Given the description of an element on the screen output the (x, y) to click on. 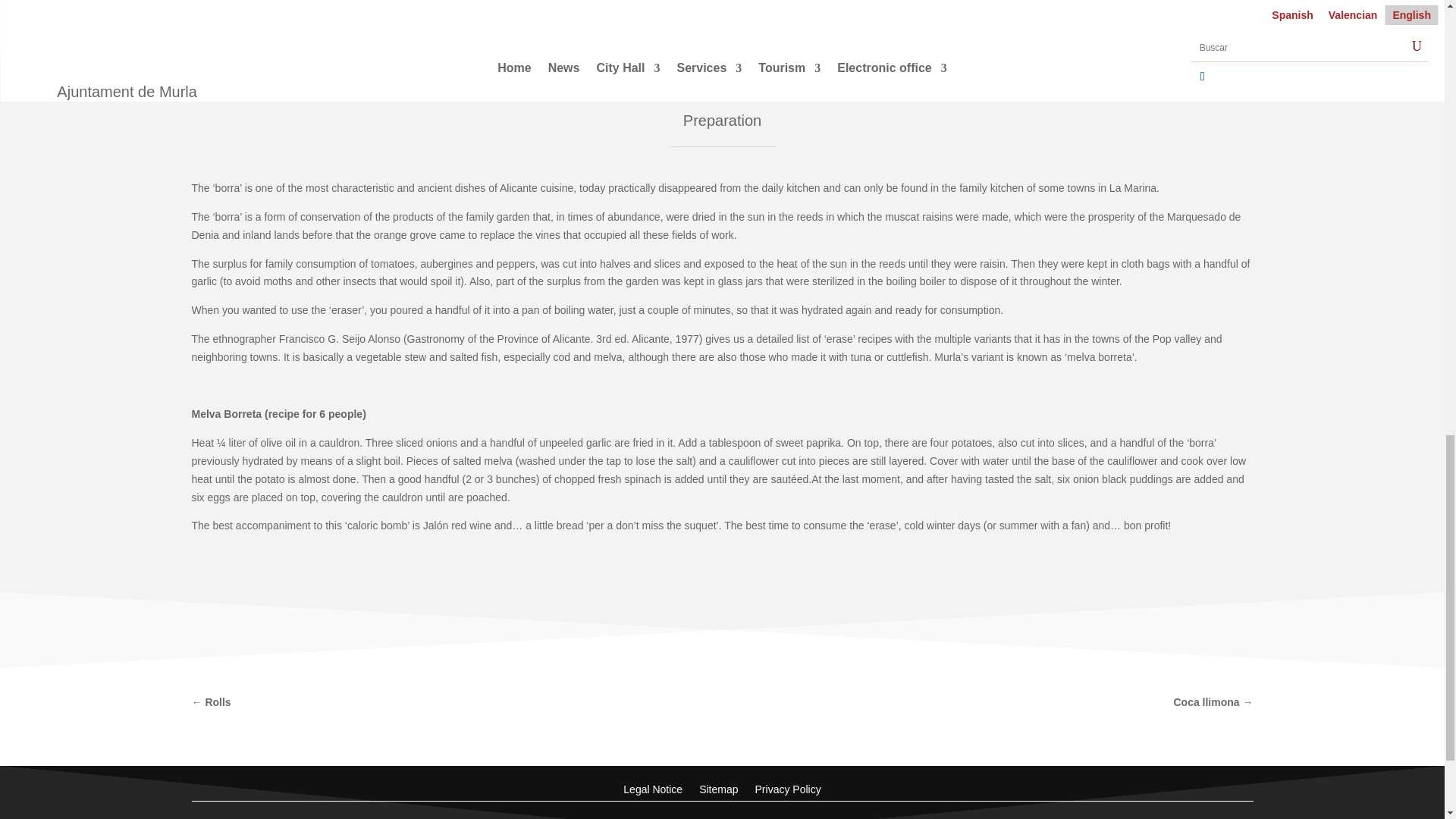
Sitemap (718, 786)
Privacy Policy (788, 786)
Legal Notice (652, 786)
